Given the description of an element on the screen output the (x, y) to click on. 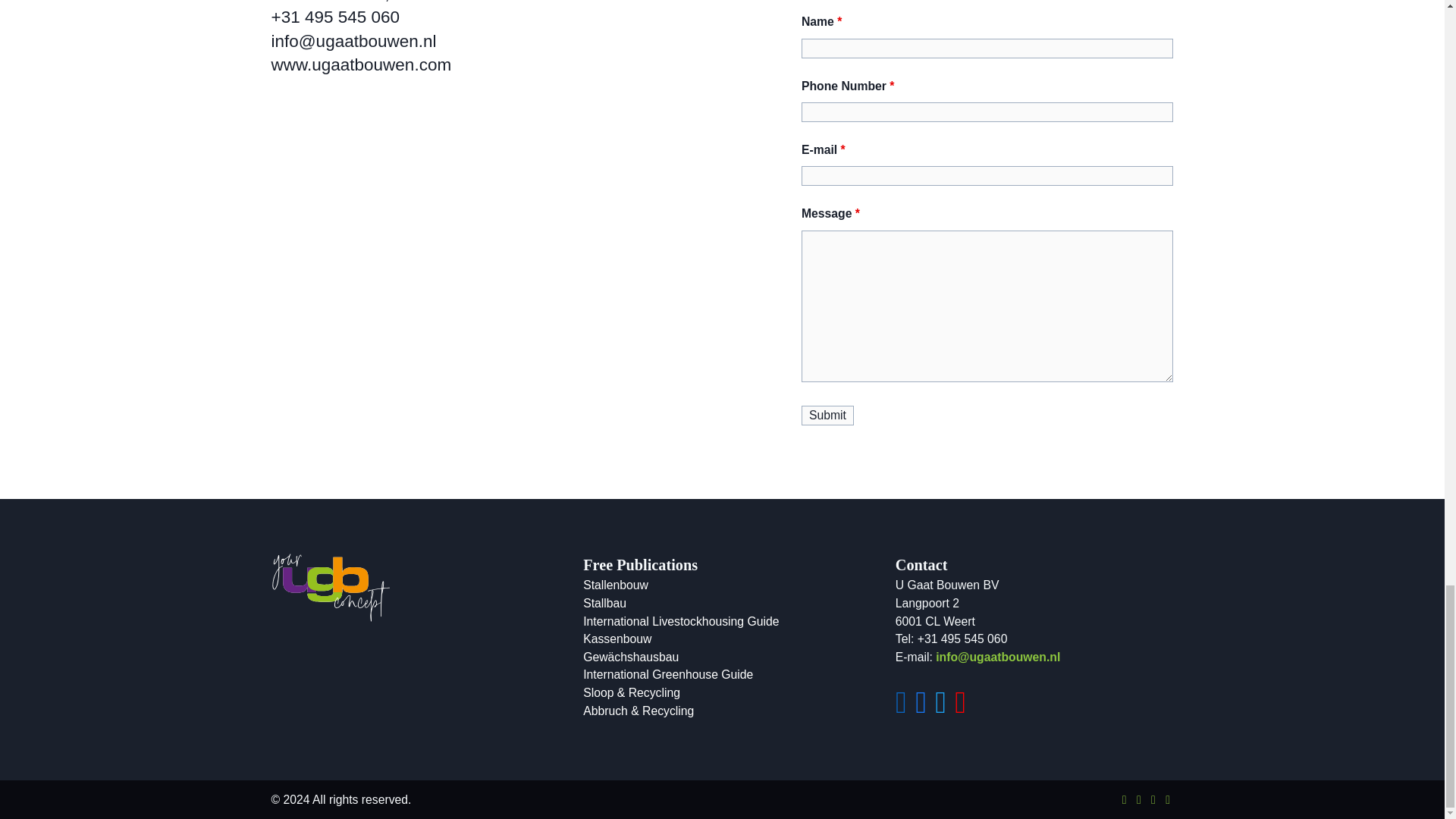
Submit (827, 415)
Stallenbouw (615, 584)
Submit (827, 415)
Stallbau (604, 603)
International Livestockhousing Guide (680, 621)
International Greenhouse Guide (667, 674)
Kassenbouw (616, 638)
